Given the description of an element on the screen output the (x, y) to click on. 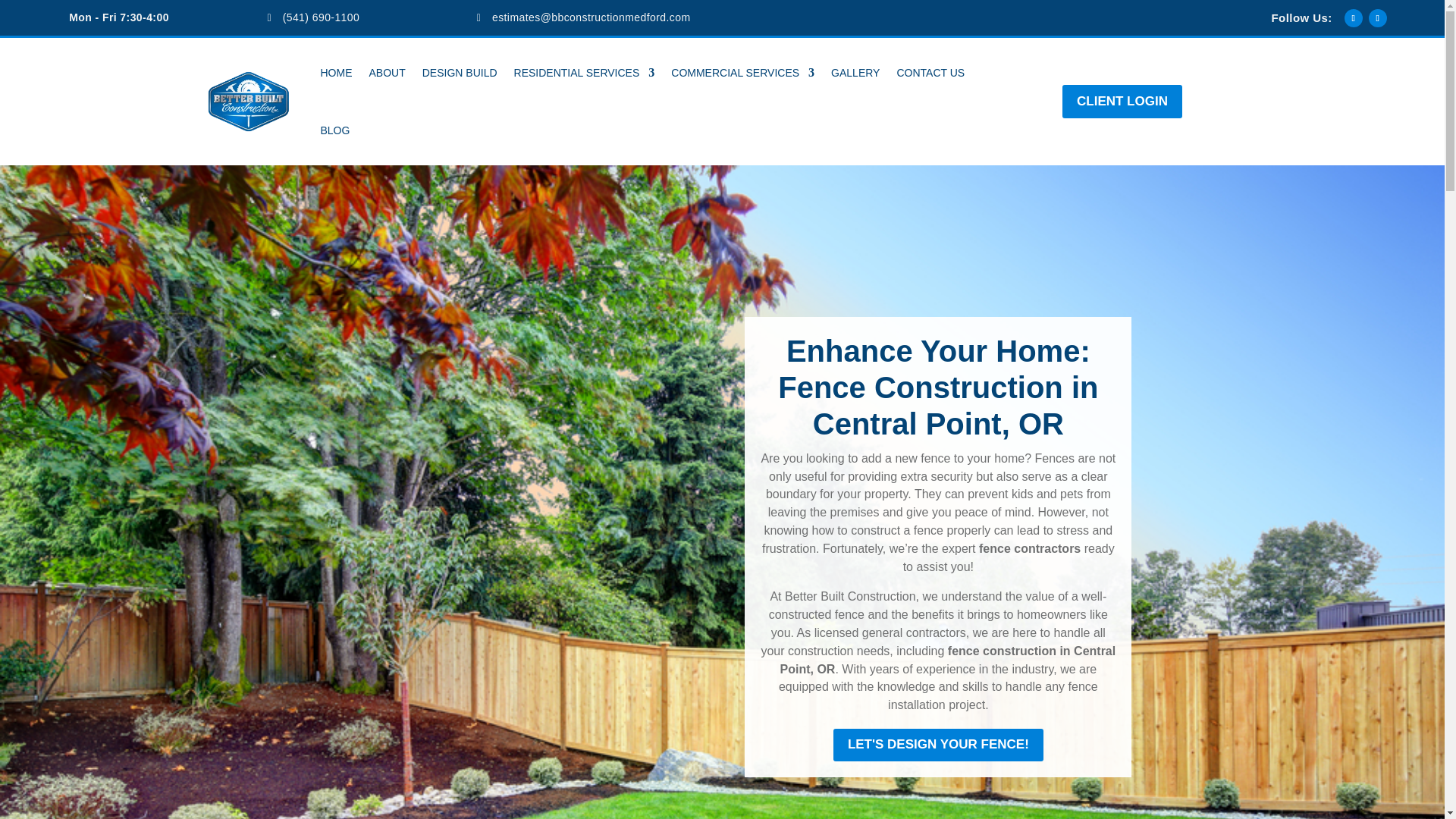
COMMERCIAL SERVICES (742, 72)
LET'S DESIGN YOUR FENCE! (937, 744)
Follow on Facebook (1352, 18)
CLIENT LOGIN (1122, 101)
RESIDENTIAL SERVICES (584, 72)
DESIGN BUILD (459, 72)
Follow on Instagram (1377, 18)
CONTACT US (929, 72)
